Given the description of an element on the screen output the (x, y) to click on. 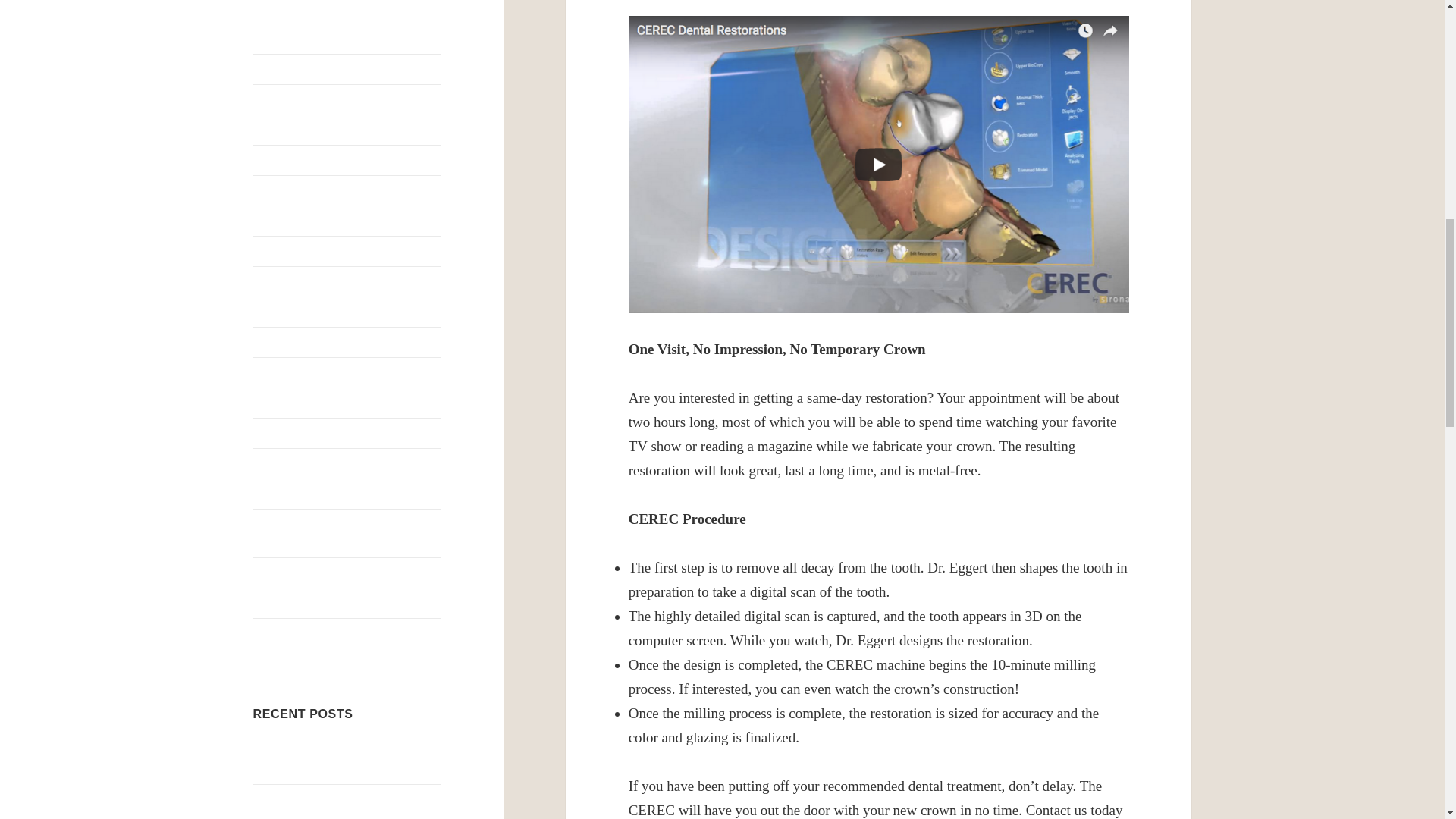
Our Practice (283, 341)
TMJ, Splint, and Sleep Apnea Therapy (325, 532)
Orofacial Myofunctional Disorder (336, 311)
Mental Health (288, 250)
Wisdom Teeth (288, 633)
Patient Stories (288, 372)
The Records Process (304, 463)
Eggert Newsletter Archives (282, 281)
Gum Disease (285, 99)
Uncategorized (288, 572)
Full Mouth Reconstruction (318, 69)
Implants (274, 129)
Seattle Protocol (291, 432)
Veneers (272, 603)
